Given the description of an element on the screen output the (x, y) to click on. 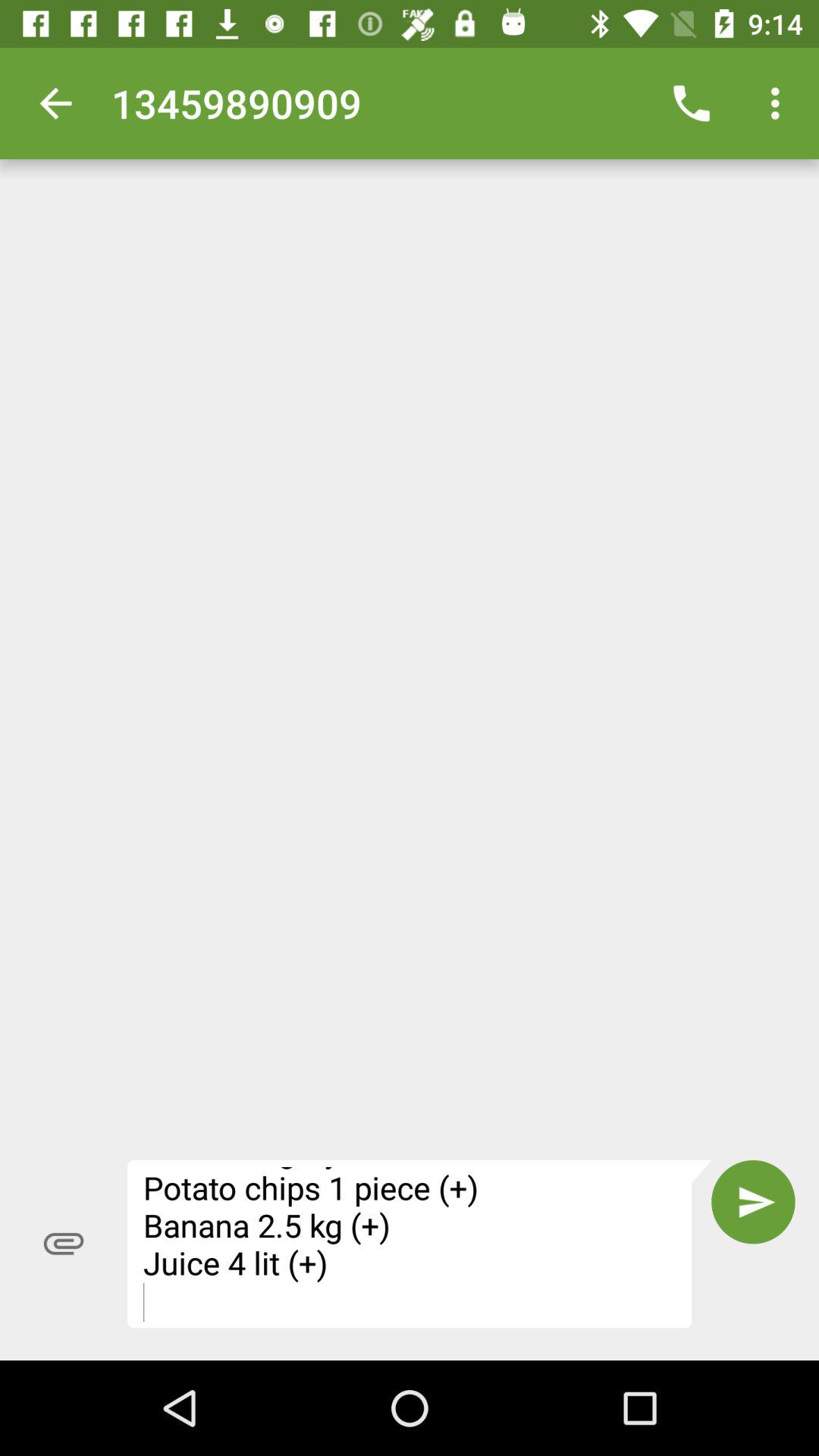
choose icon to the right of fivefly shopping list (753, 1201)
